Given the description of an element on the screen output the (x, y) to click on. 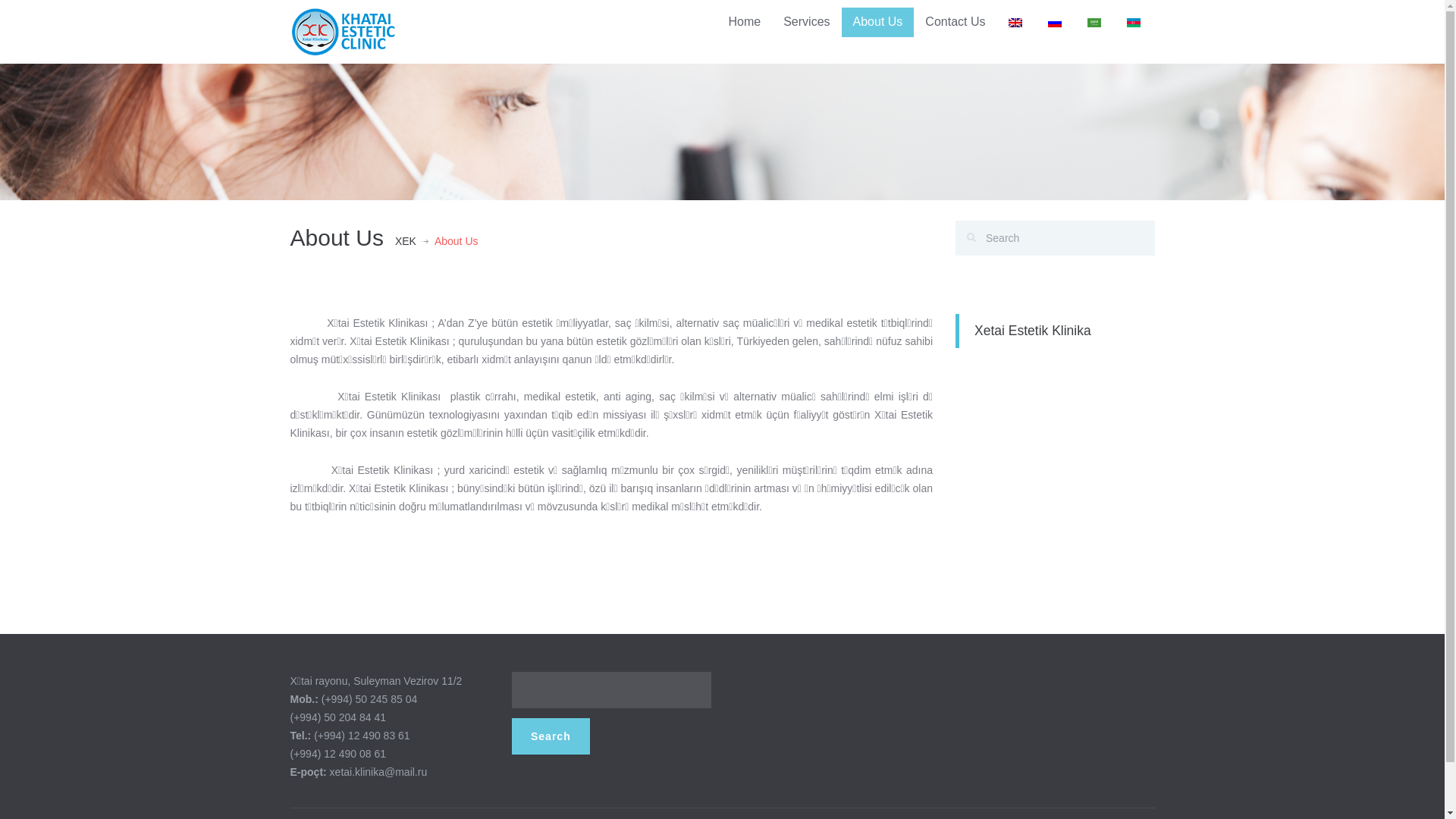
XEK Element type: text (405, 240)
Xetai Estetik Klinika Element type: text (1032, 330)
About Us Element type: text (877, 22)
Contact Us Element type: text (954, 22)
Azerbaijani Element type: hover (1133, 22)
Services Element type: text (805, 22)
English Element type: hover (1015, 22)
Home Element type: text (744, 22)
Search Element type: text (550, 736)
